Given the description of an element on the screen output the (x, y) to click on. 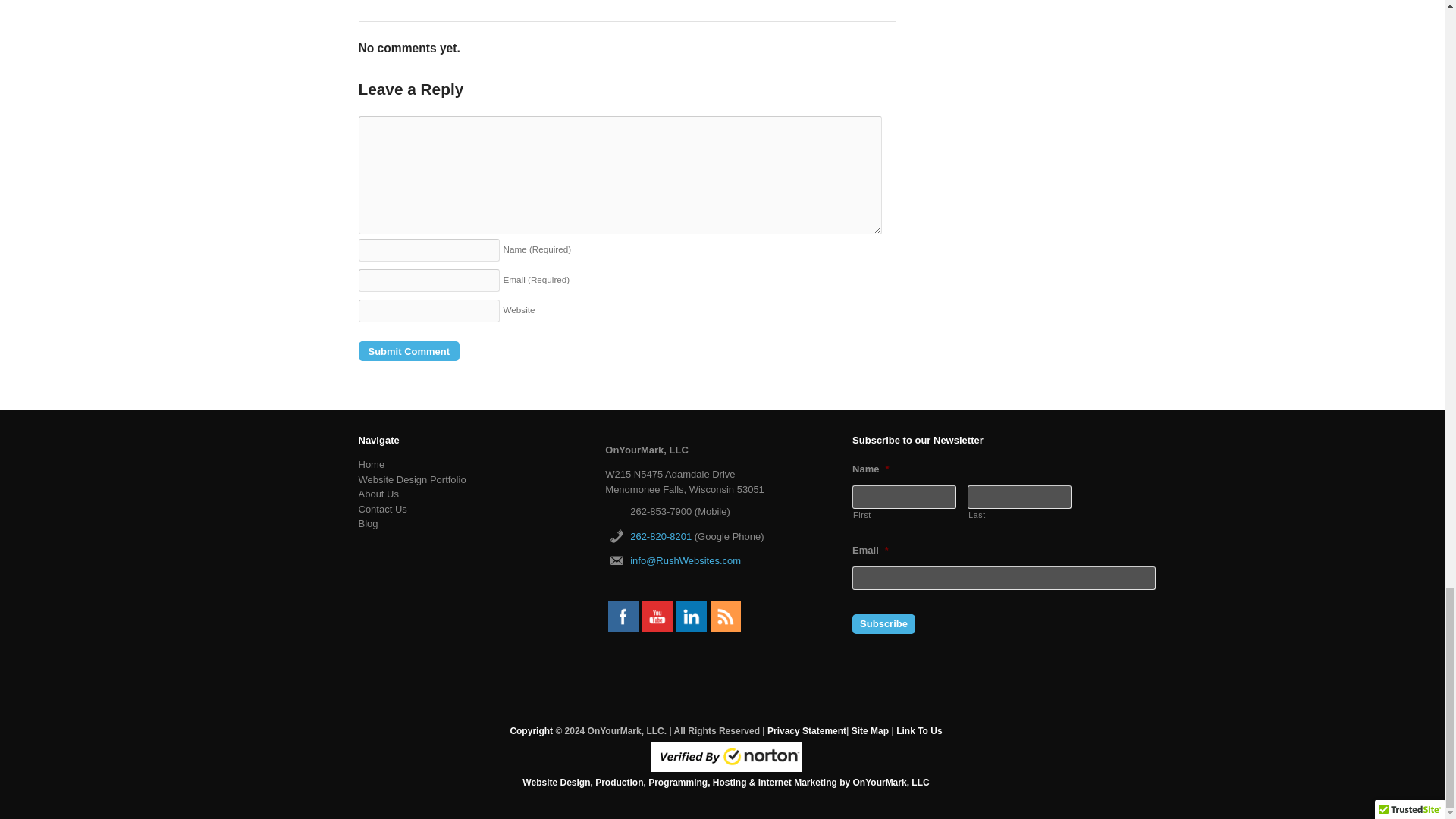
RSS (725, 616)
YouTube (657, 616)
Submit Comment (409, 351)
Subscribe (883, 623)
LinkedIn (691, 616)
Facebook (623, 616)
